Given the description of an element on the screen output the (x, y) to click on. 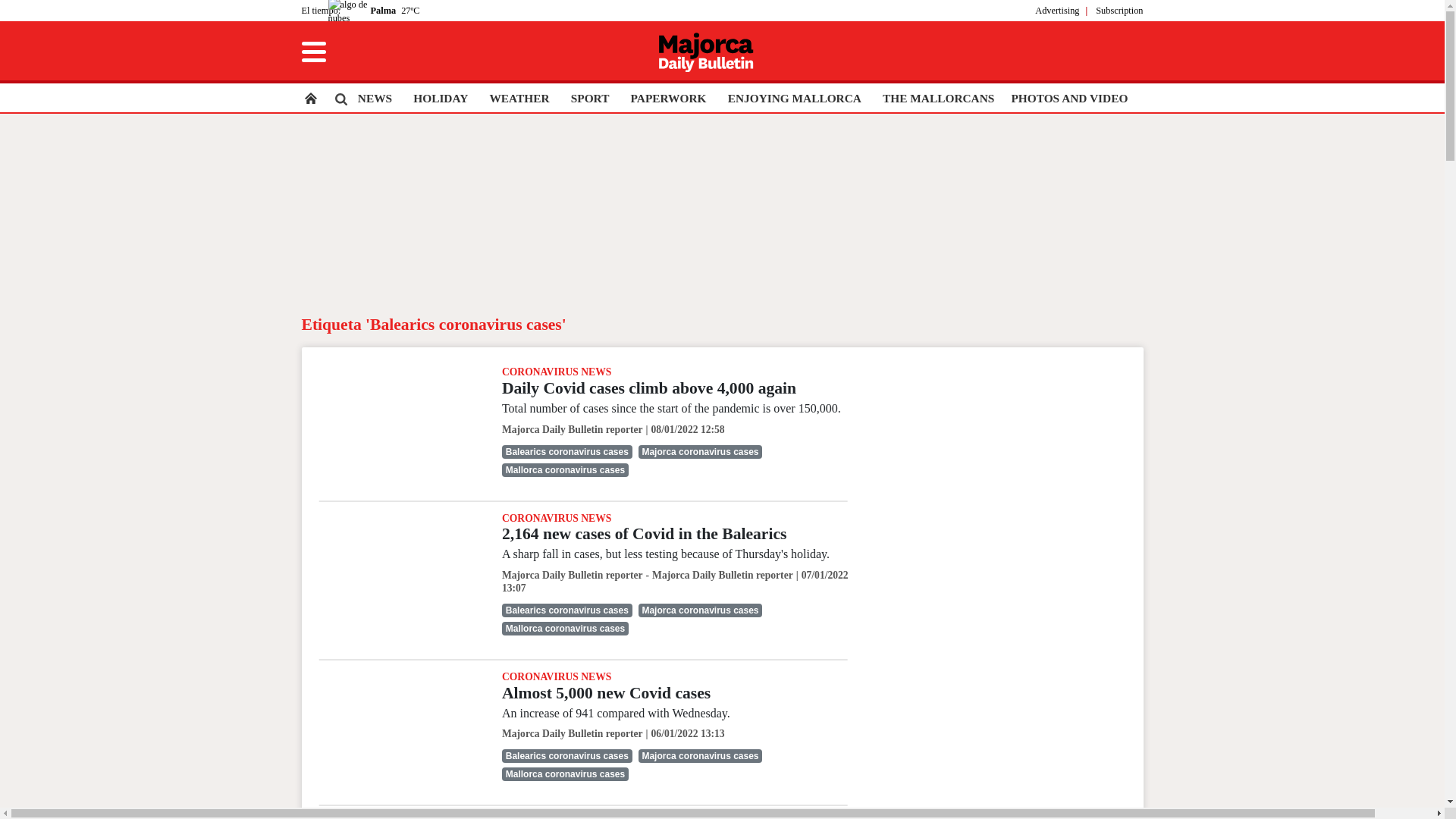
Almost 5,000 new Covid cases (606, 692)
Record number of Covid cases once again (400, 817)
2,164 new cases of Covid in the Balearics (400, 567)
Daily Covid cases climb above 4,000 again (649, 388)
Daily Covid cases climb above 4,000 again (400, 421)
Advertising (1056, 9)
El tiempo (319, 9)
